Given the description of an element on the screen output the (x, y) to click on. 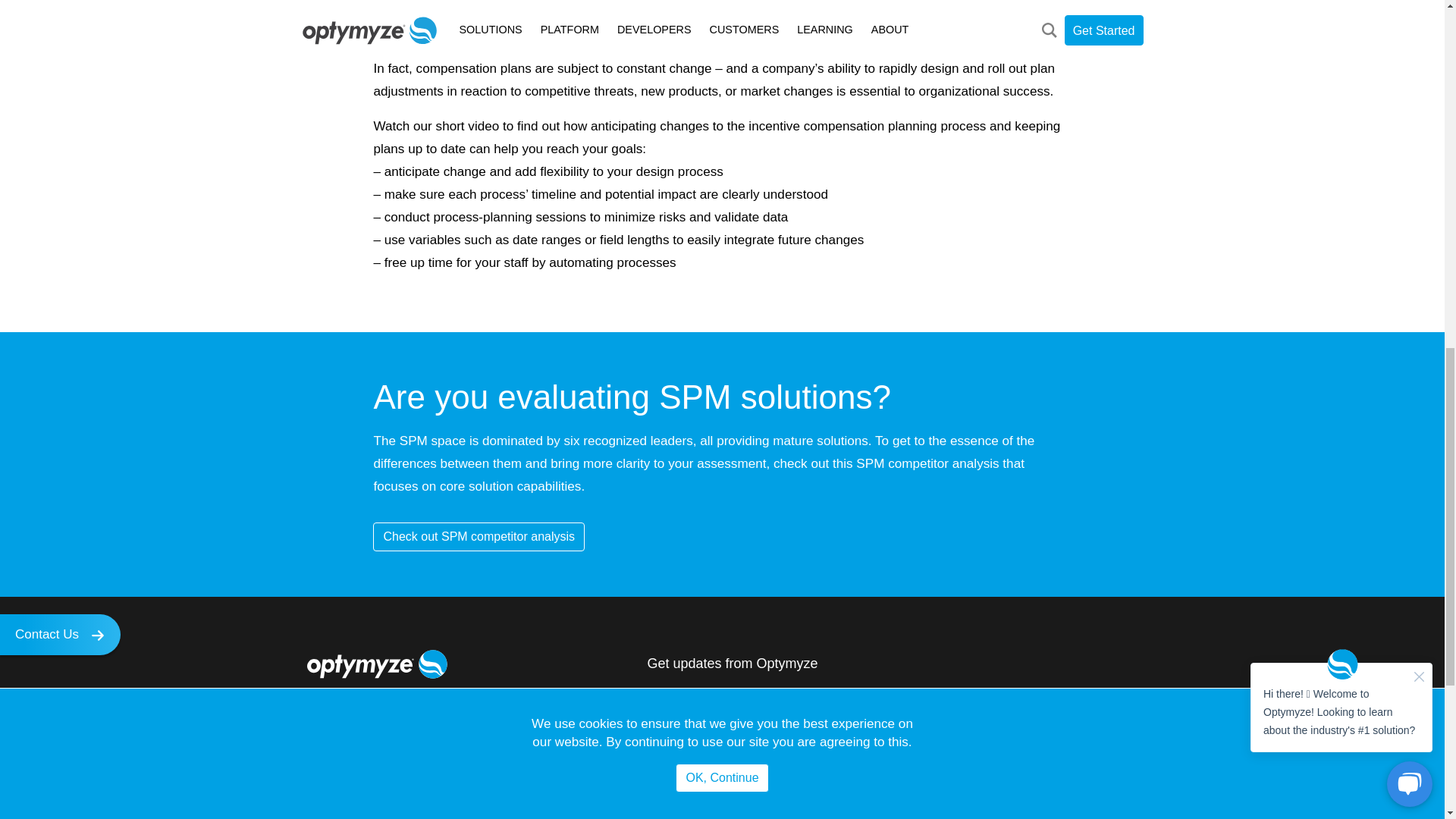
Subscribe (1036, 708)
